Given the description of an element on the screen output the (x, y) to click on. 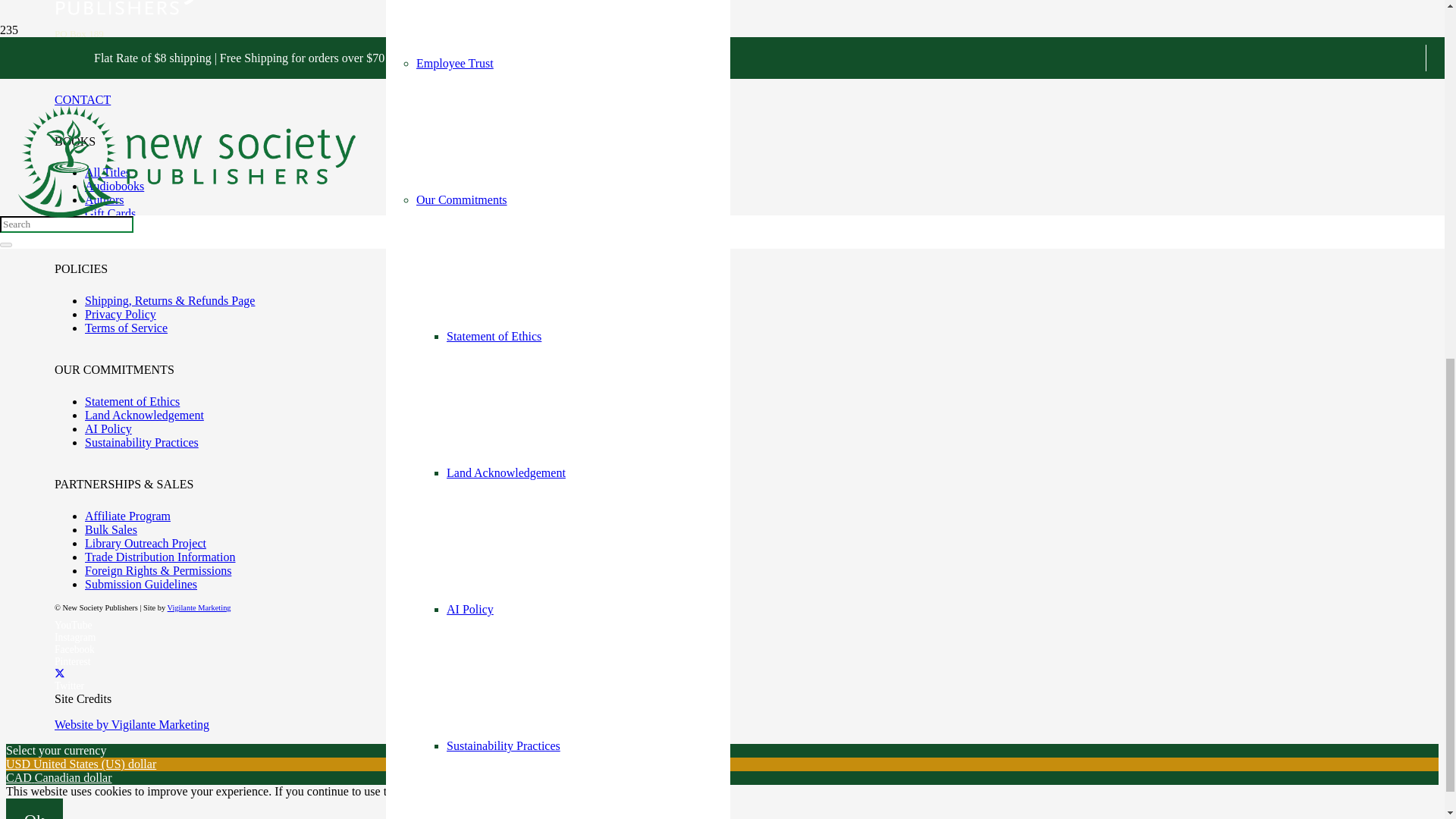
Resources (433, 497)
FAQs (430, 634)
Blog (419, 360)
Twitter (60, 673)
The Team (440, 224)
Book Resources (455, 770)
Sustainability Practices (503, 88)
